Given the description of an element on the screen output the (x, y) to click on. 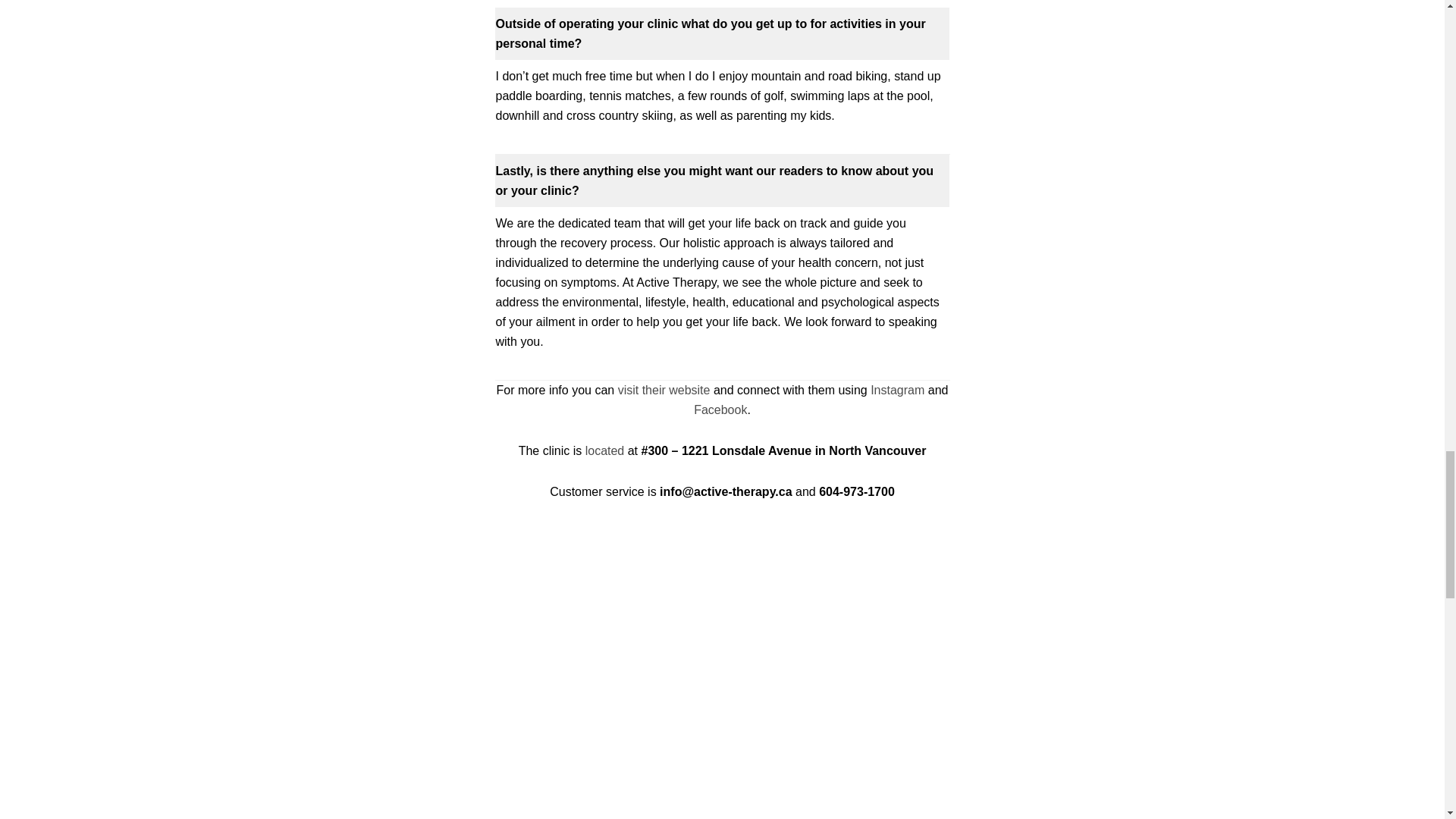
Instagram (897, 390)
located (604, 450)
visit their website (663, 390)
Facebook (720, 409)
